Given the description of an element on the screen output the (x, y) to click on. 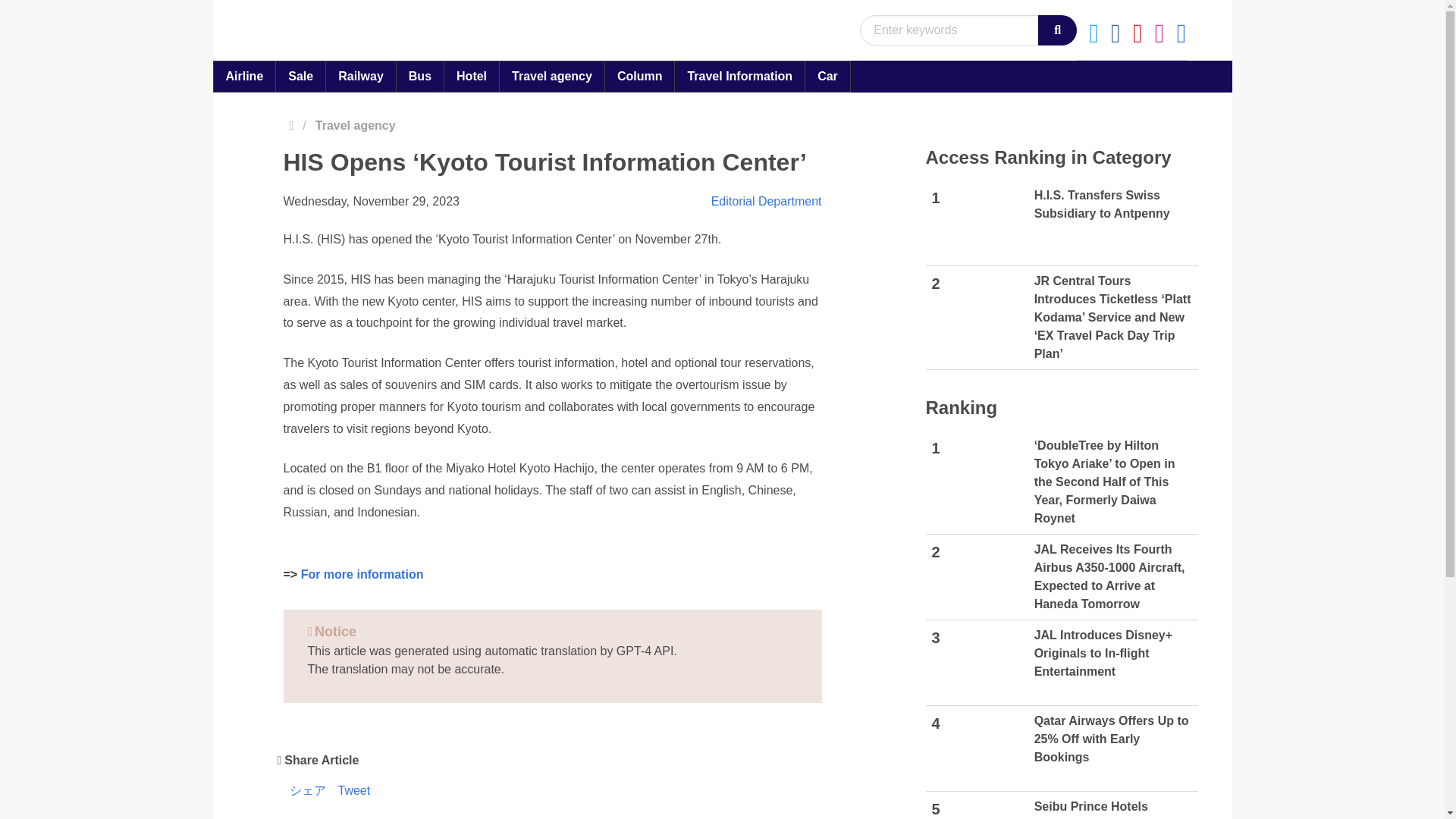
Tweet (354, 792)
Editorial Department (766, 201)
Posts by Editorial Department (766, 201)
H.I.S. Transfers Swiss Subsidiary to Antpenny (985, 222)
Travel Information (739, 76)
Airline (1061, 223)
Travel agency (244, 76)
Bus (359, 126)
Railway (420, 76)
Hotel (360, 76)
Column (471, 76)
Travel agency (639, 76)
Sale (552, 76)
